Given the description of an element on the screen output the (x, y) to click on. 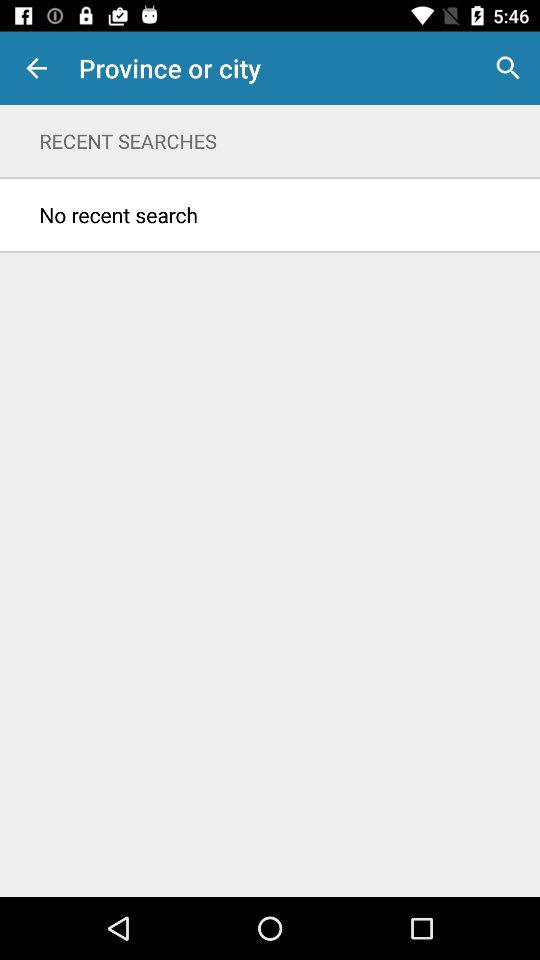
press icon next to province or city item (508, 67)
